Given the description of an element on the screen output the (x, y) to click on. 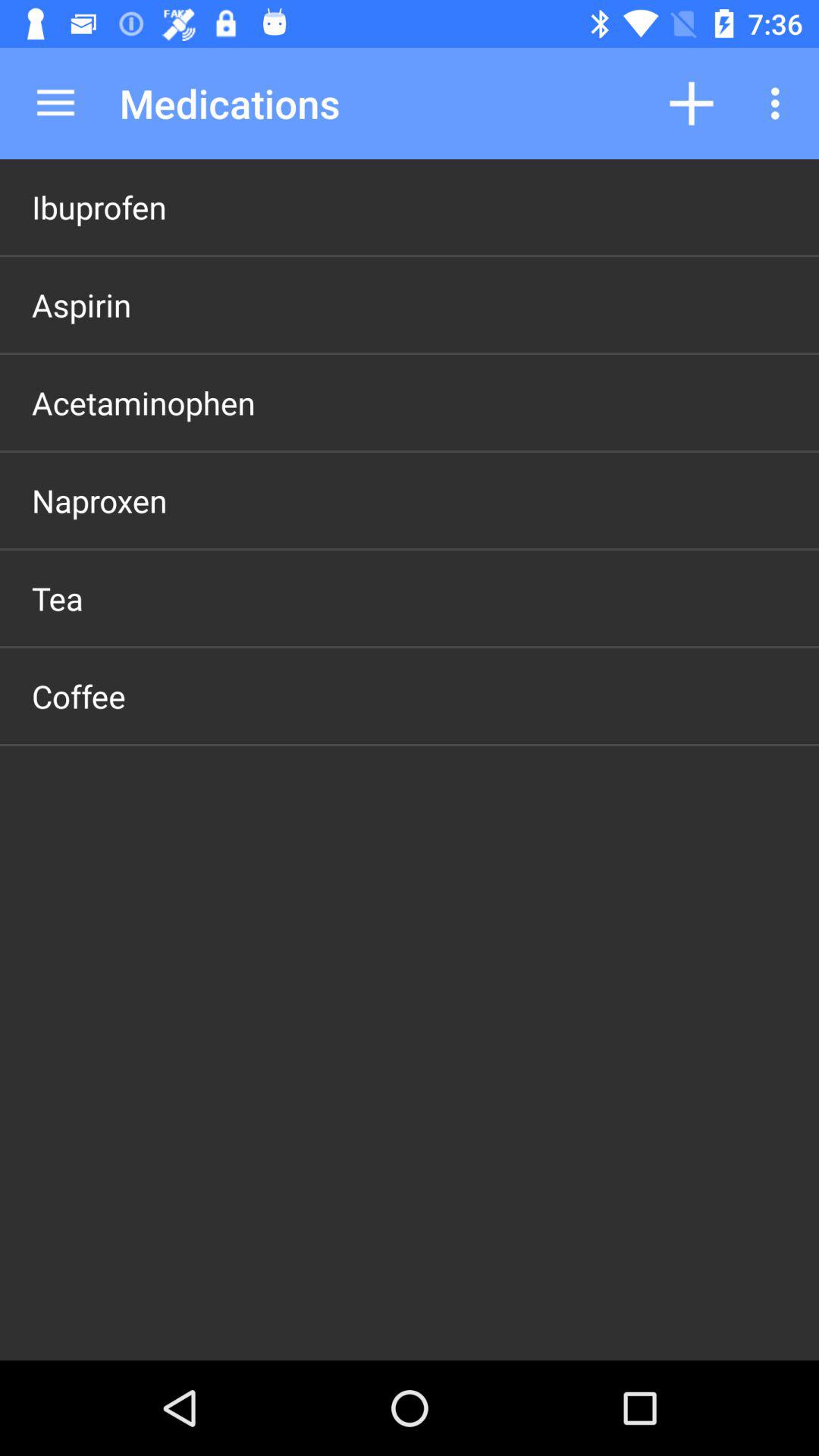
jump until the naproxen item (99, 500)
